Given the description of an element on the screen output the (x, y) to click on. 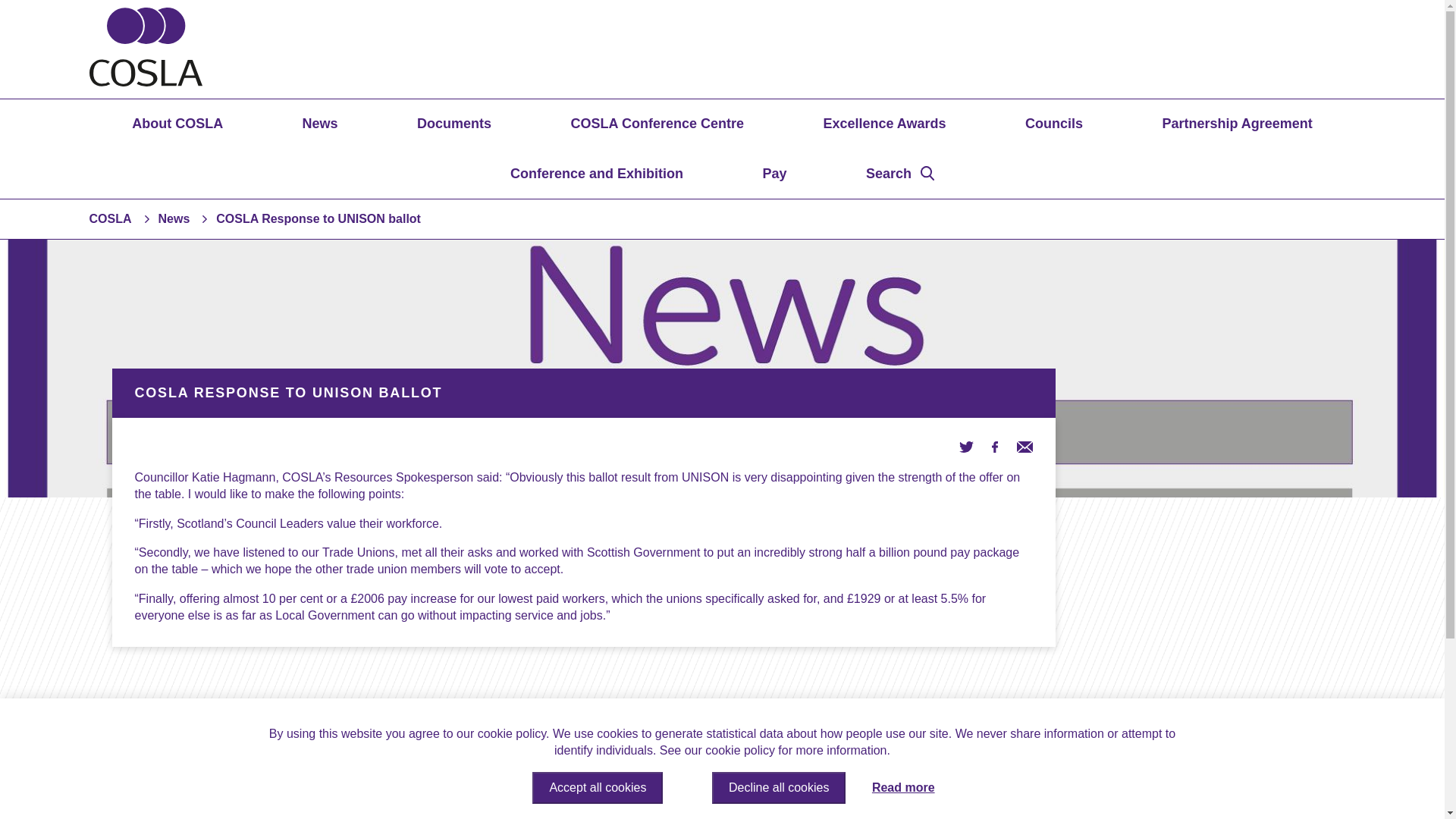
Councils (1054, 123)
Link to open search (900, 174)
Documents (454, 123)
News (173, 218)
Search (900, 174)
Partnership Agreement (1236, 123)
Send an email (1024, 446)
About COSLA (177, 123)
COSLA Conference Centre (657, 123)
Link to News (173, 218)
